Given the description of an element on the screen output the (x, y) to click on. 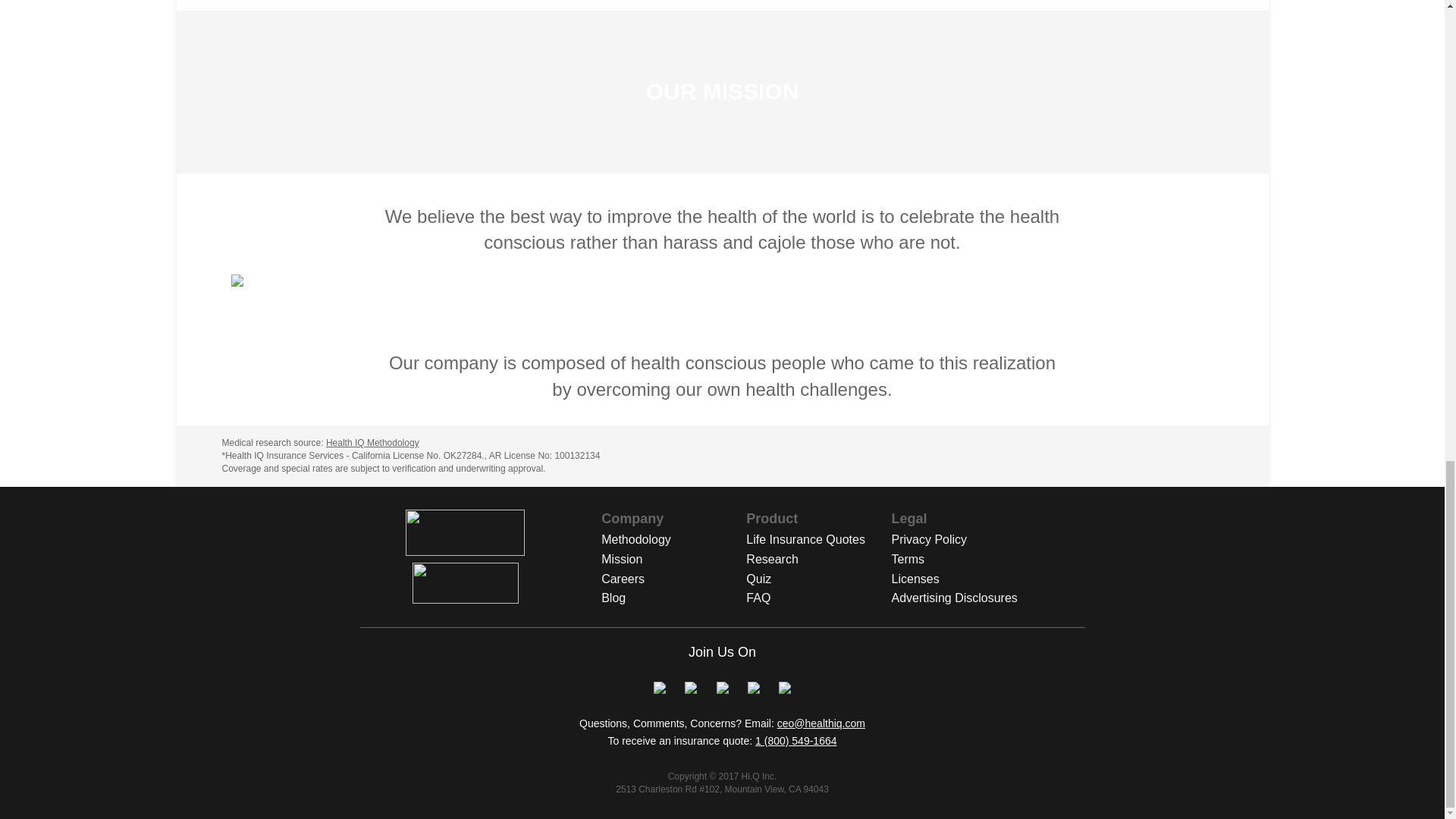
Careers (673, 579)
Quiz (818, 579)
Mission (673, 559)
Health IQ Methodology (372, 442)
Terms (963, 559)
Research (818, 559)
Blog (673, 598)
Privacy Policy (963, 539)
Life Insurance Quotes (818, 539)
FAQ (818, 598)
Methodology (673, 539)
